Given the description of an element on the screen output the (x, y) to click on. 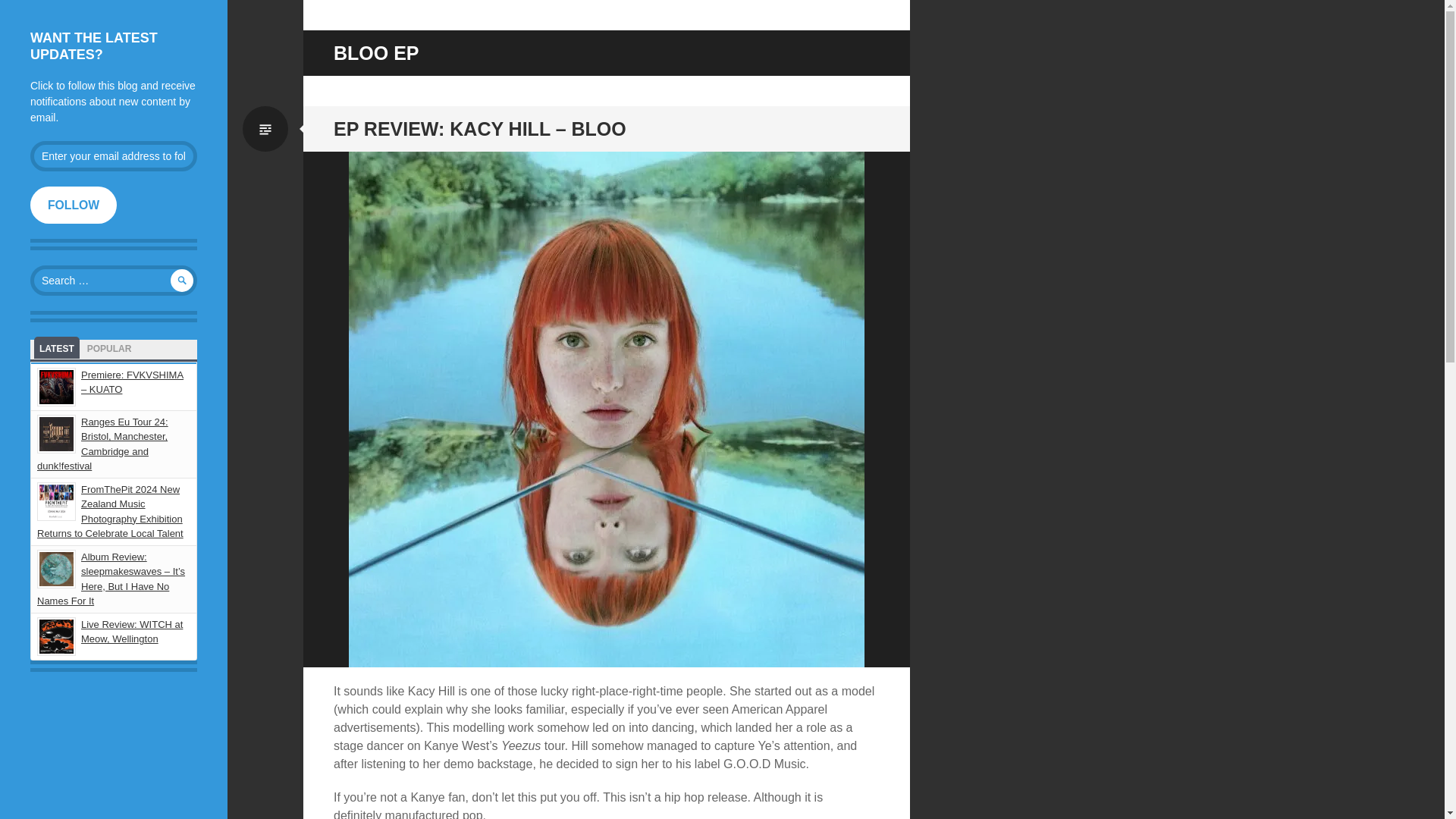
Live Review: WITCH at Meow, Wellington (132, 632)
FOLLOW (73, 204)
POPULAR (108, 347)
Search for: (113, 280)
LATEST (56, 347)
